Given the description of an element on the screen output the (x, y) to click on. 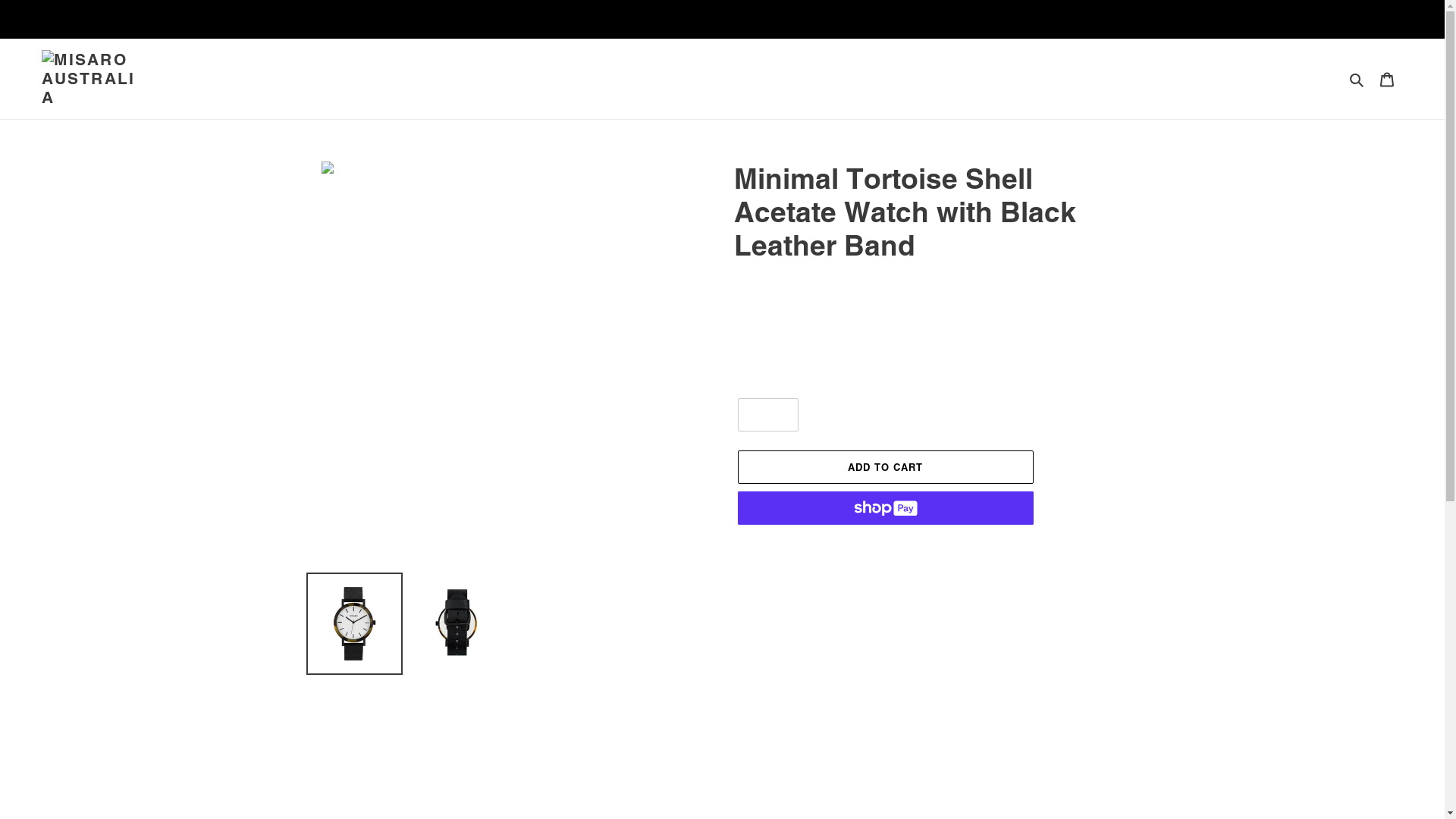
Shop Element type: text (729, 79)
More payment options Element type: text (884, 544)
ADD TO CART Element type: text (884, 466)
Home Element type: text (713, 79)
Search Element type: text (1357, 78)
Cart Element type: text (1386, 78)
